Given the description of an element on the screen output the (x, y) to click on. 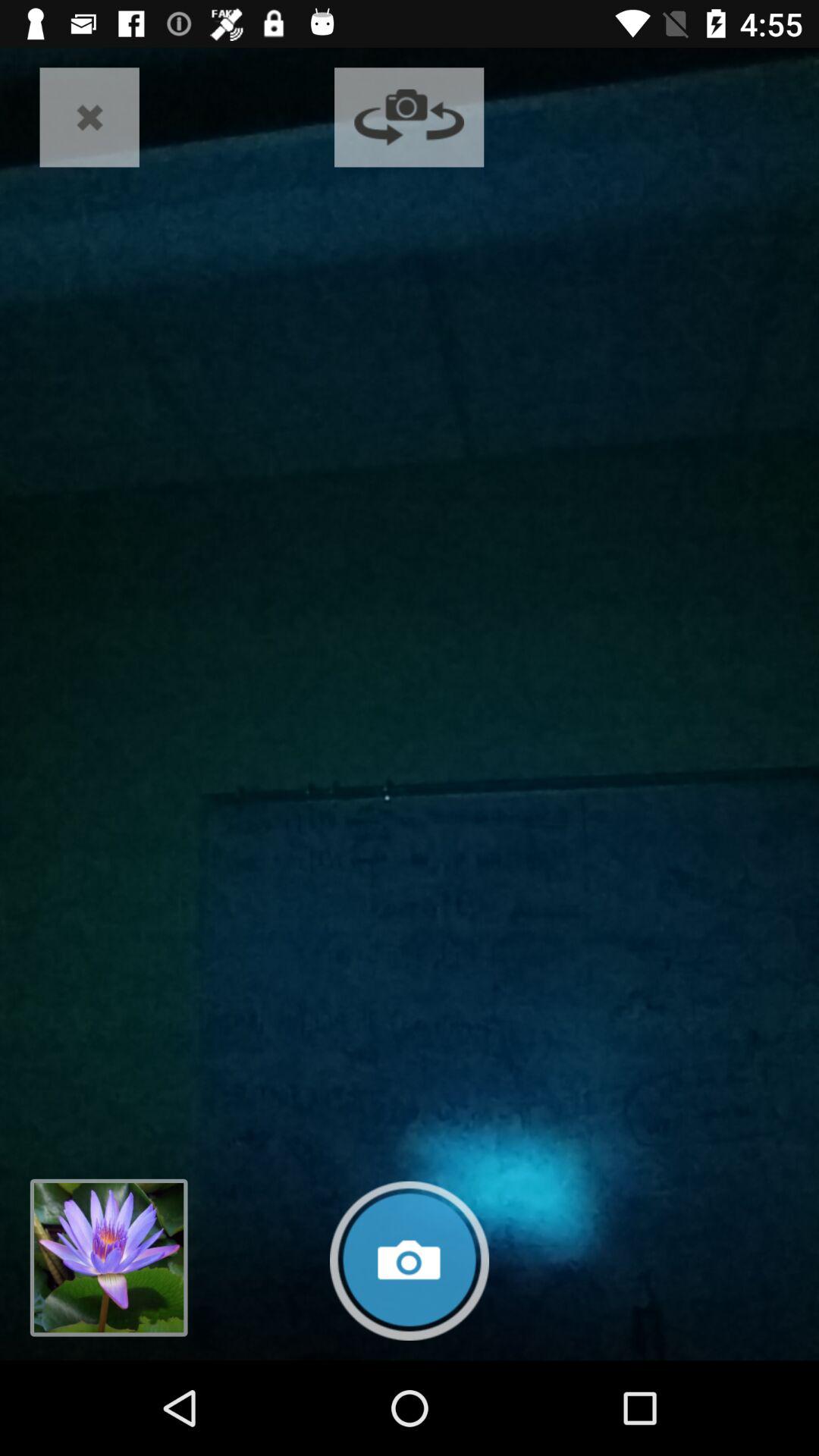
go back to photo gallery (108, 1257)
